Given the description of an element on the screen output the (x, y) to click on. 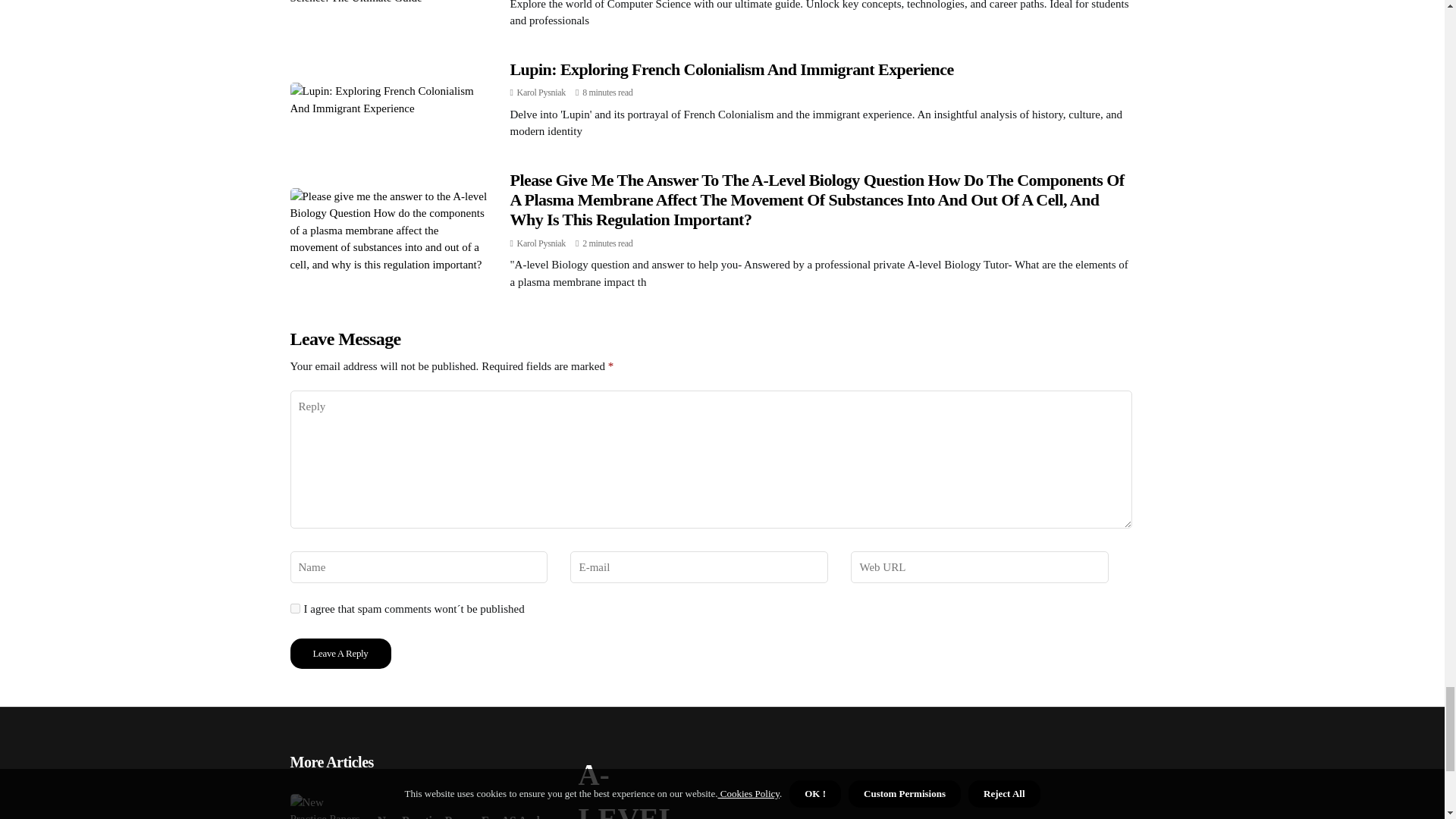
Leave a Reply (339, 653)
Karol Pysniak (541, 243)
yes (294, 608)
Karol Pysniak (541, 91)
Posts by Karol Pysniak (541, 243)
Leave a Reply (339, 653)
Posts by Karol Pysniak (541, 91)
Lupin: Exploring French Colonialism And Immigrant Experience (731, 68)
